Given the description of an element on the screen output the (x, y) to click on. 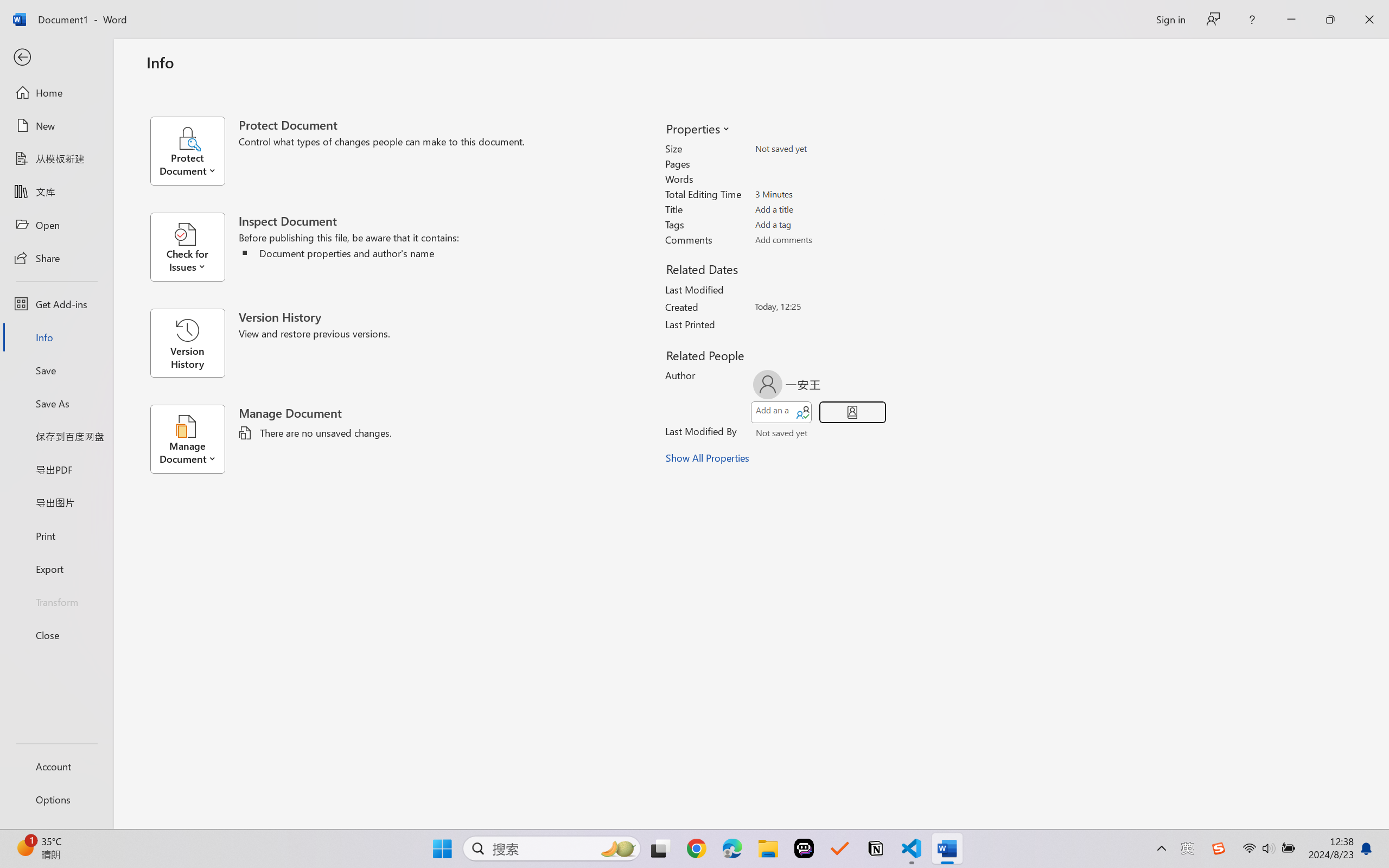
Title (818, 209)
Show All Properties (707, 457)
Manage Document (194, 438)
Total Editing Time (818, 193)
Options (56, 798)
New (56, 125)
